Given the description of an element on the screen output the (x, y) to click on. 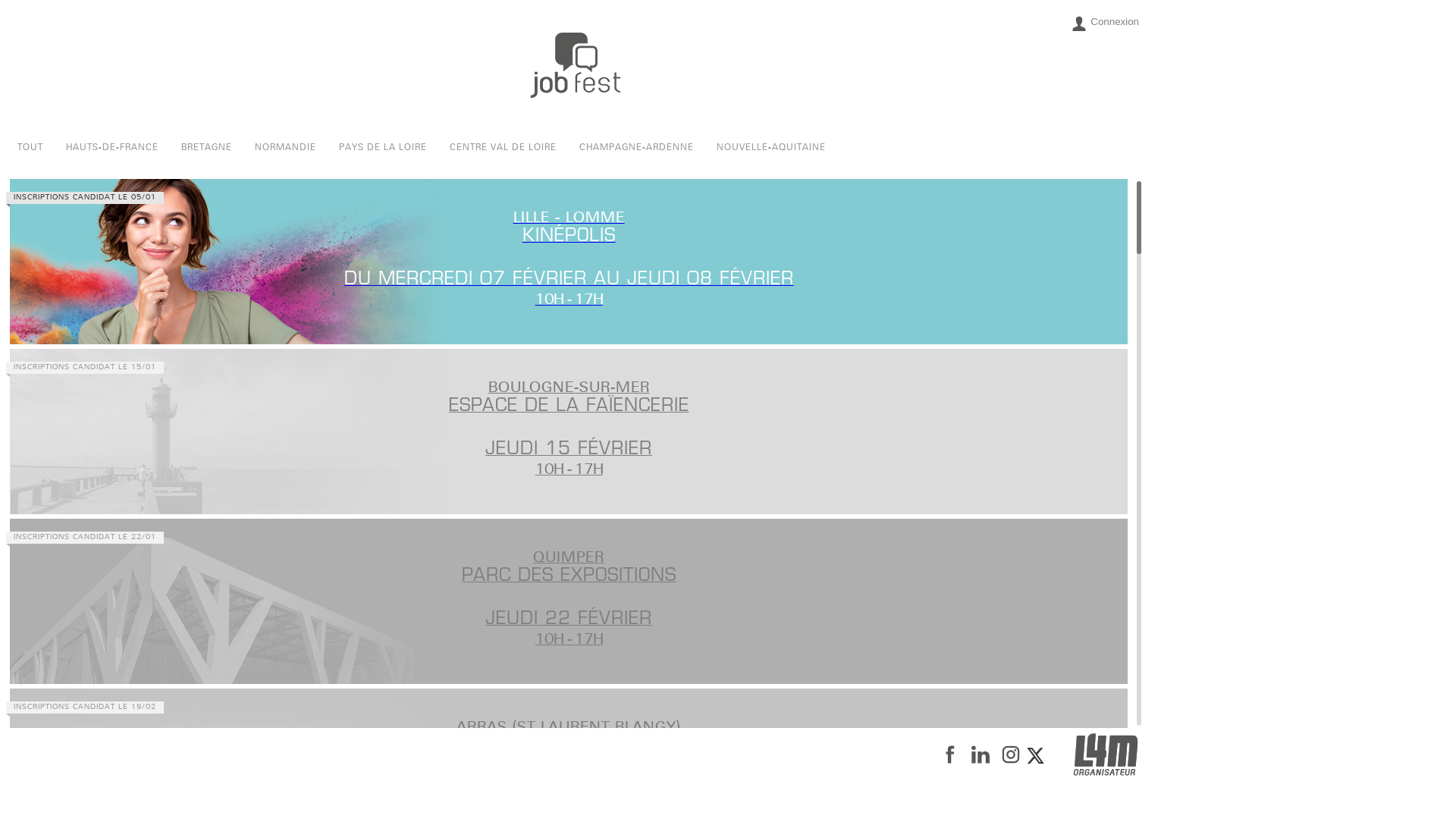
Connexion Element type: text (1104, 23)
